Given the description of an element on the screen output the (x, y) to click on. 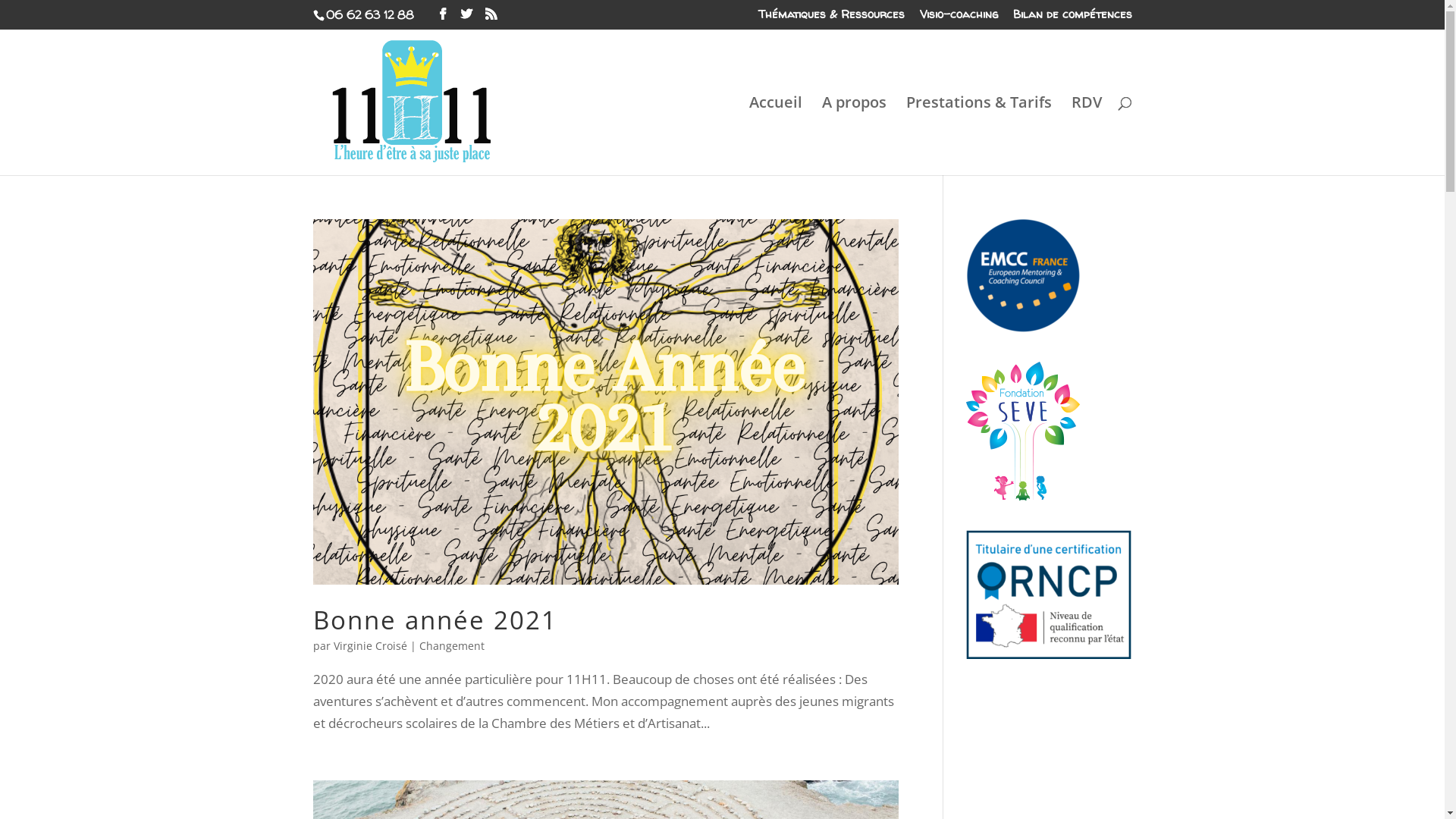
A propos Element type: text (854, 136)
Visio-coaching Element type: text (958, 18)
Prestations & Tarifs Element type: text (978, 136)
Changement Element type: text (450, 645)
Accueil Element type: text (775, 136)
RDV Element type: text (1085, 136)
